Given the description of an element on the screen output the (x, y) to click on. 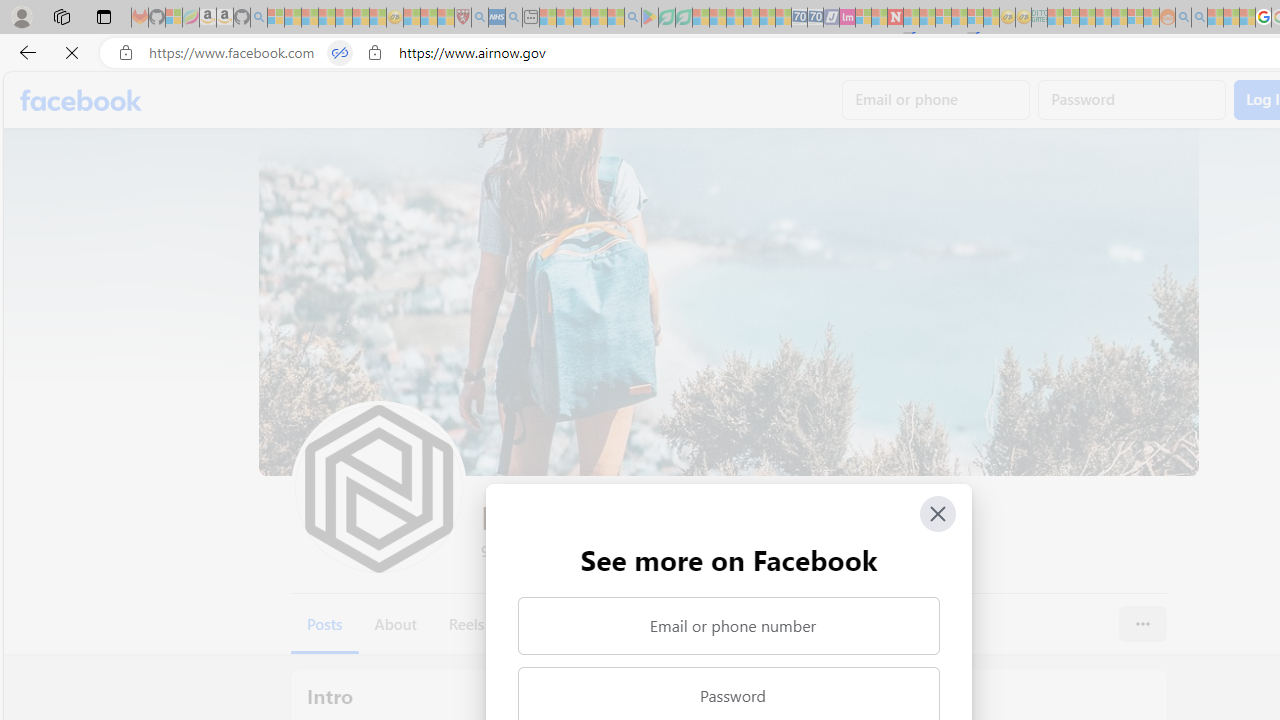
Bluey: Let's Play! - Apps on Google Play - Sleeping (649, 17)
New Report Confirms 2023 Was Record Hot | Watch - Sleeping (343, 17)
14 Common Myths Debunked By Scientific Facts - Sleeping (927, 17)
The Weather Channel - MSN - Sleeping (309, 17)
google - Search - Sleeping (632, 17)
Microsoft account | Privacy - Sleeping (1071, 17)
Microsoft Start - Sleeping (1215, 17)
